Given the description of an element on the screen output the (x, y) to click on. 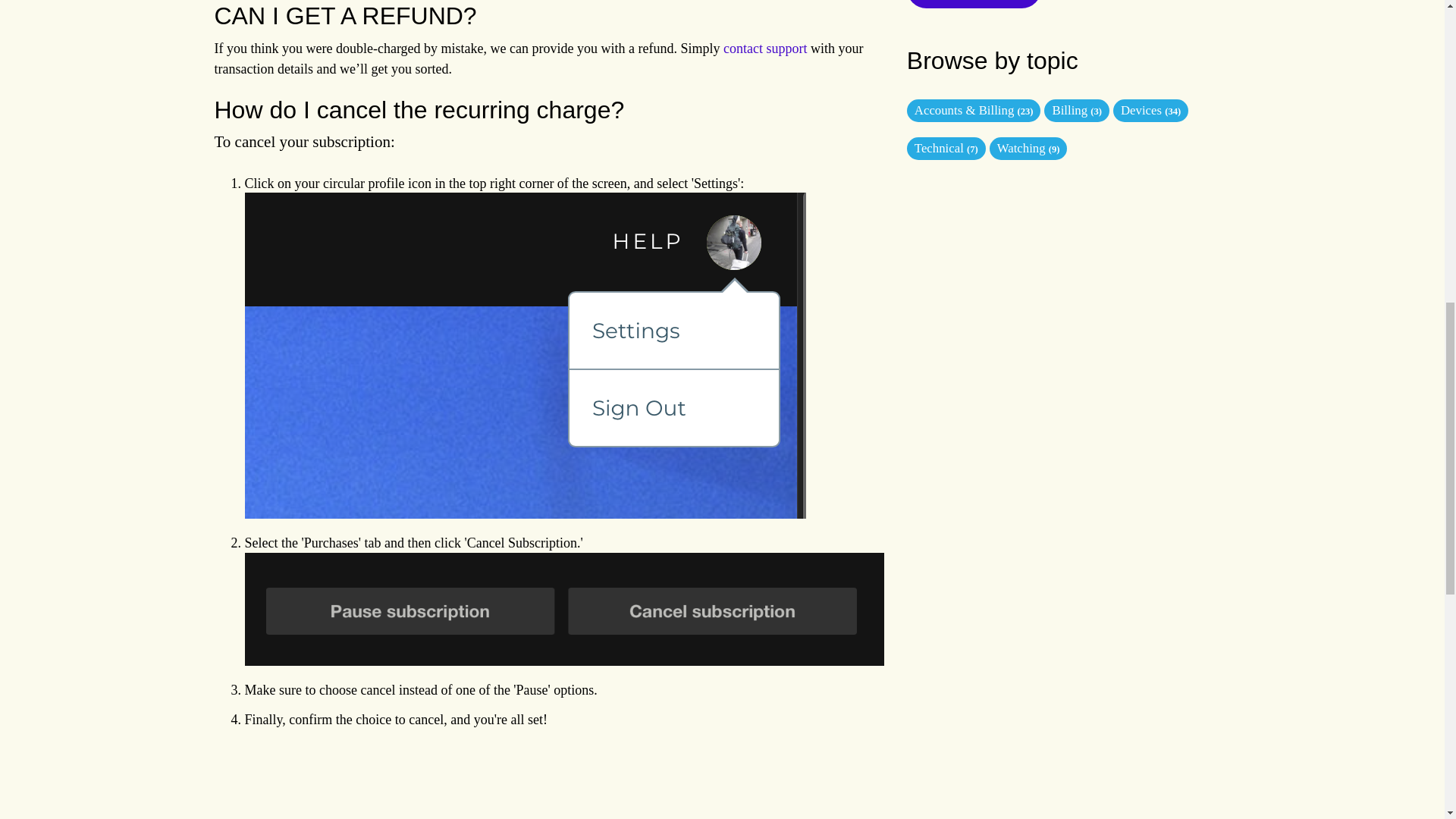
Submit (974, 4)
contact support (764, 48)
Submit (974, 4)
